Given the description of an element on the screen output the (x, y) to click on. 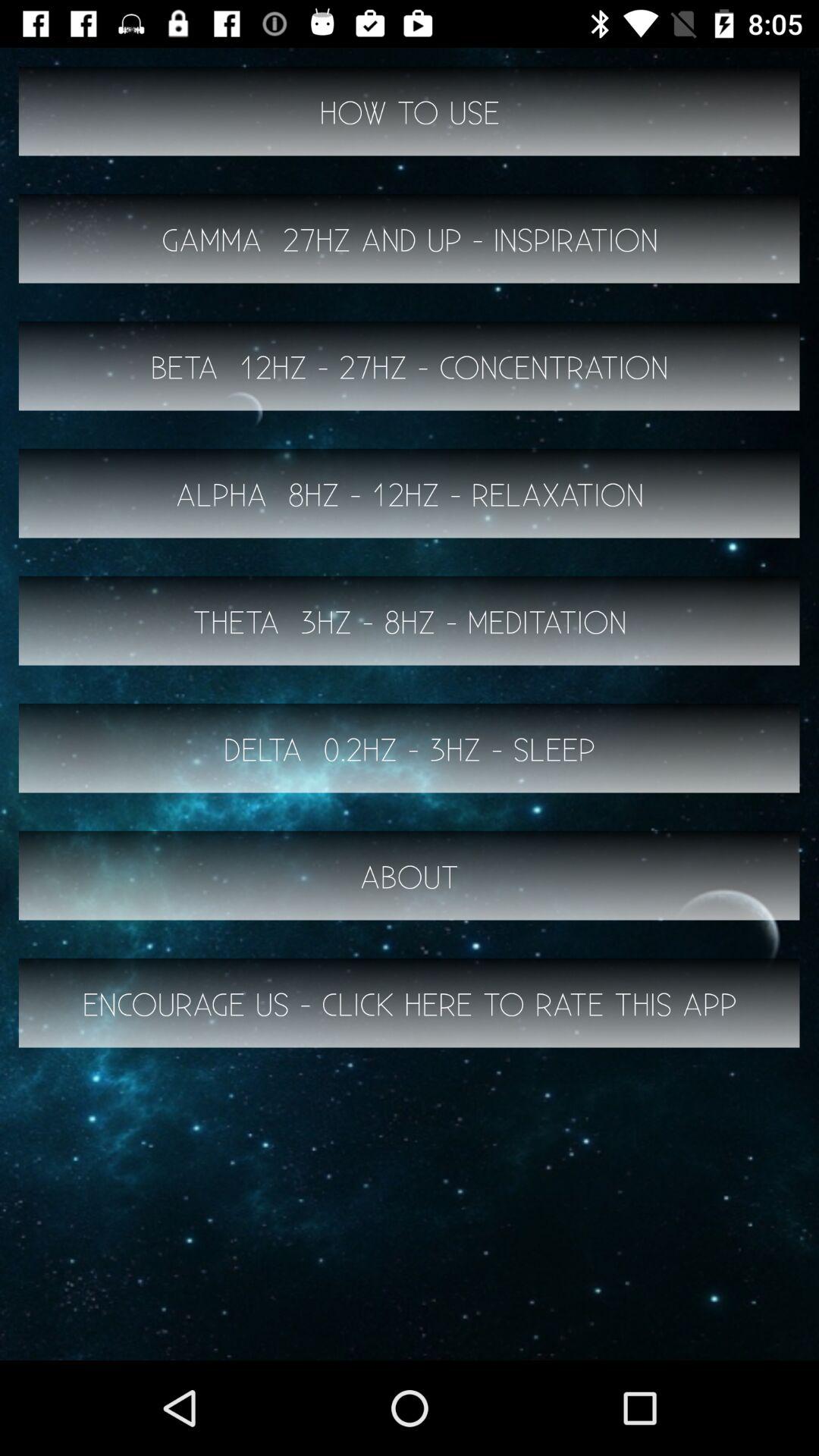
open item above gamma 27hz and button (409, 111)
